Given the description of an element on the screen output the (x, y) to click on. 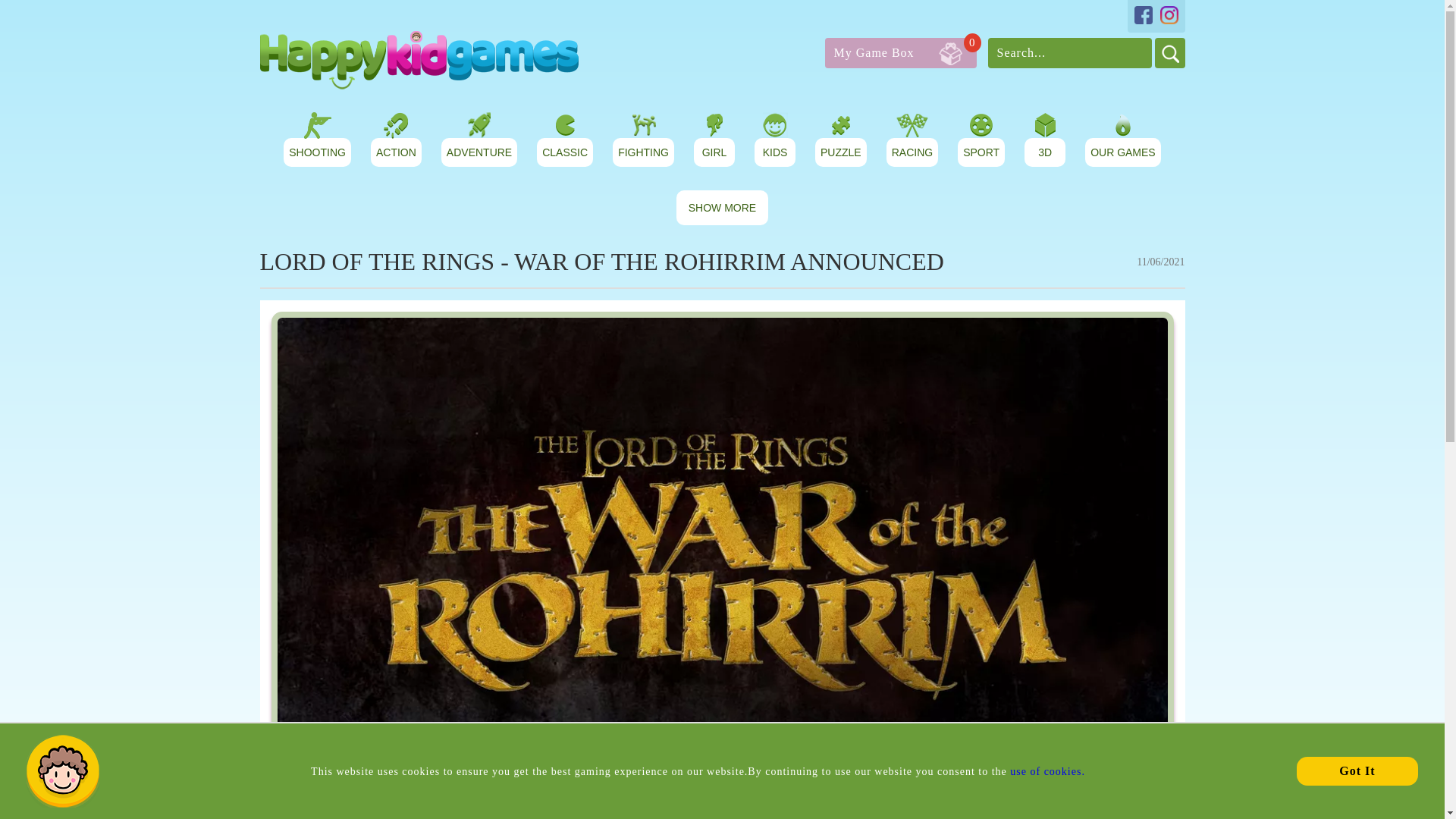
RACING (912, 152)
3D (1044, 152)
SHOOTING (900, 52)
PUZZLE (317, 152)
CLASSIC (840, 152)
FIGHTING (564, 152)
ADVENTURE (643, 152)
KIDS (479, 152)
OUR GAMES (775, 152)
GIRL (1122, 152)
SPORT (714, 152)
Advertisement (981, 152)
ACTION (113, 514)
SHOW MORE (395, 152)
